Given the description of an element on the screen output the (x, y) to click on. 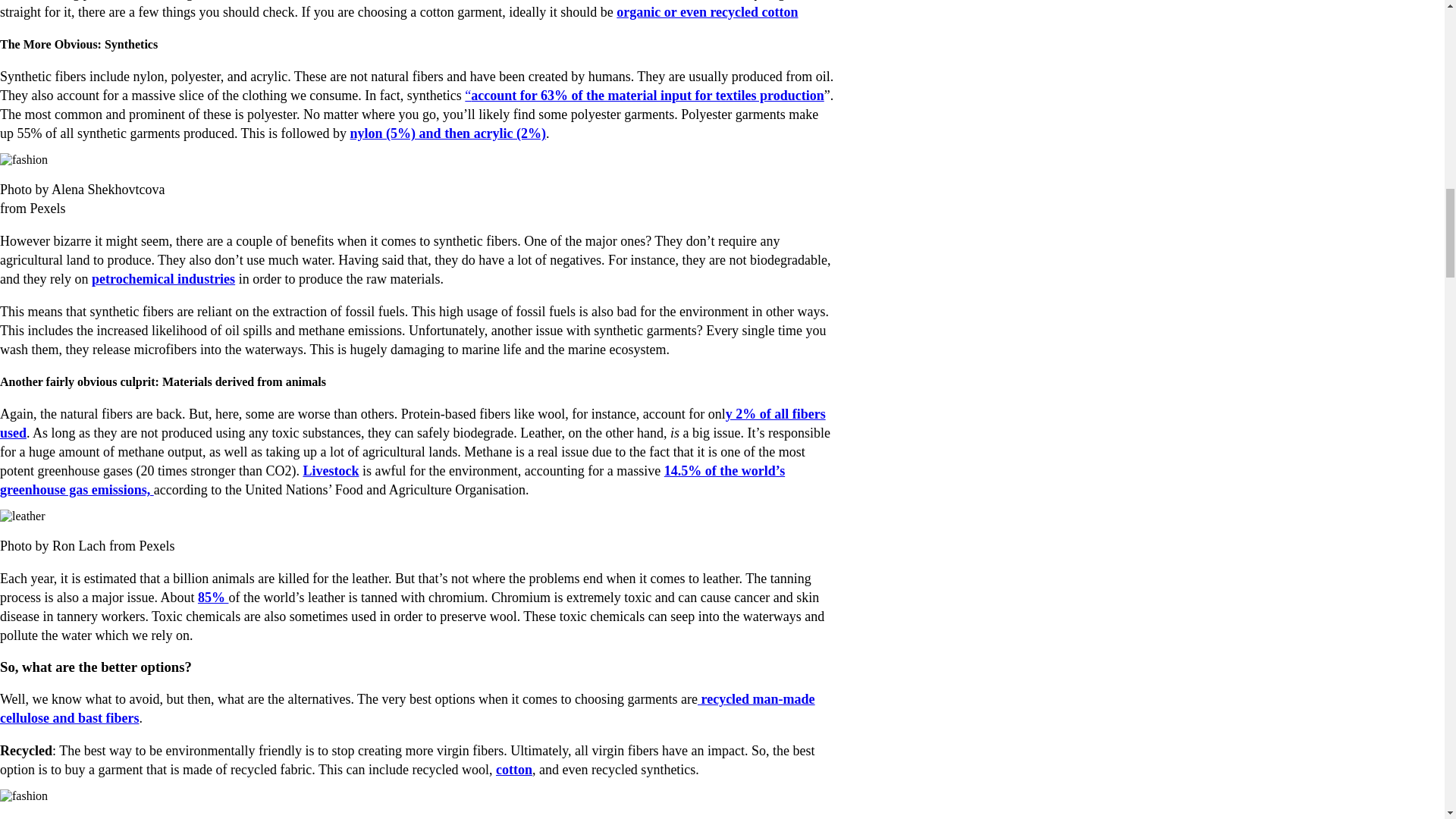
petrochemical industries (162, 278)
organic or even recycled cotton (706, 11)
Livestock (330, 470)
